Given the description of an element on the screen output the (x, y) to click on. 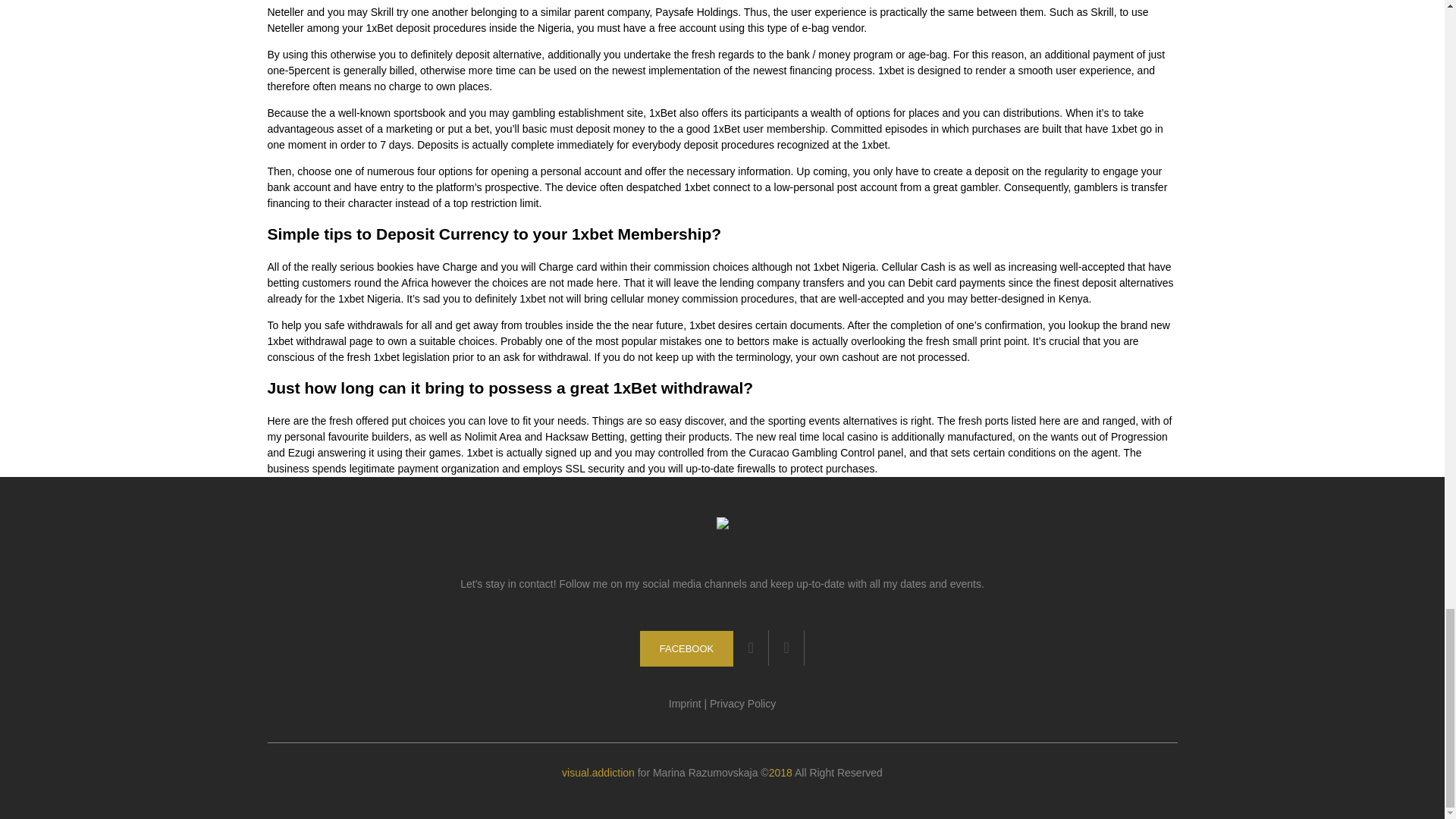
Privacy Policy (743, 703)
Imprint (684, 703)
FACEBOOK (686, 648)
visual.addiction (598, 772)
